Given the description of an element on the screen output the (x, y) to click on. 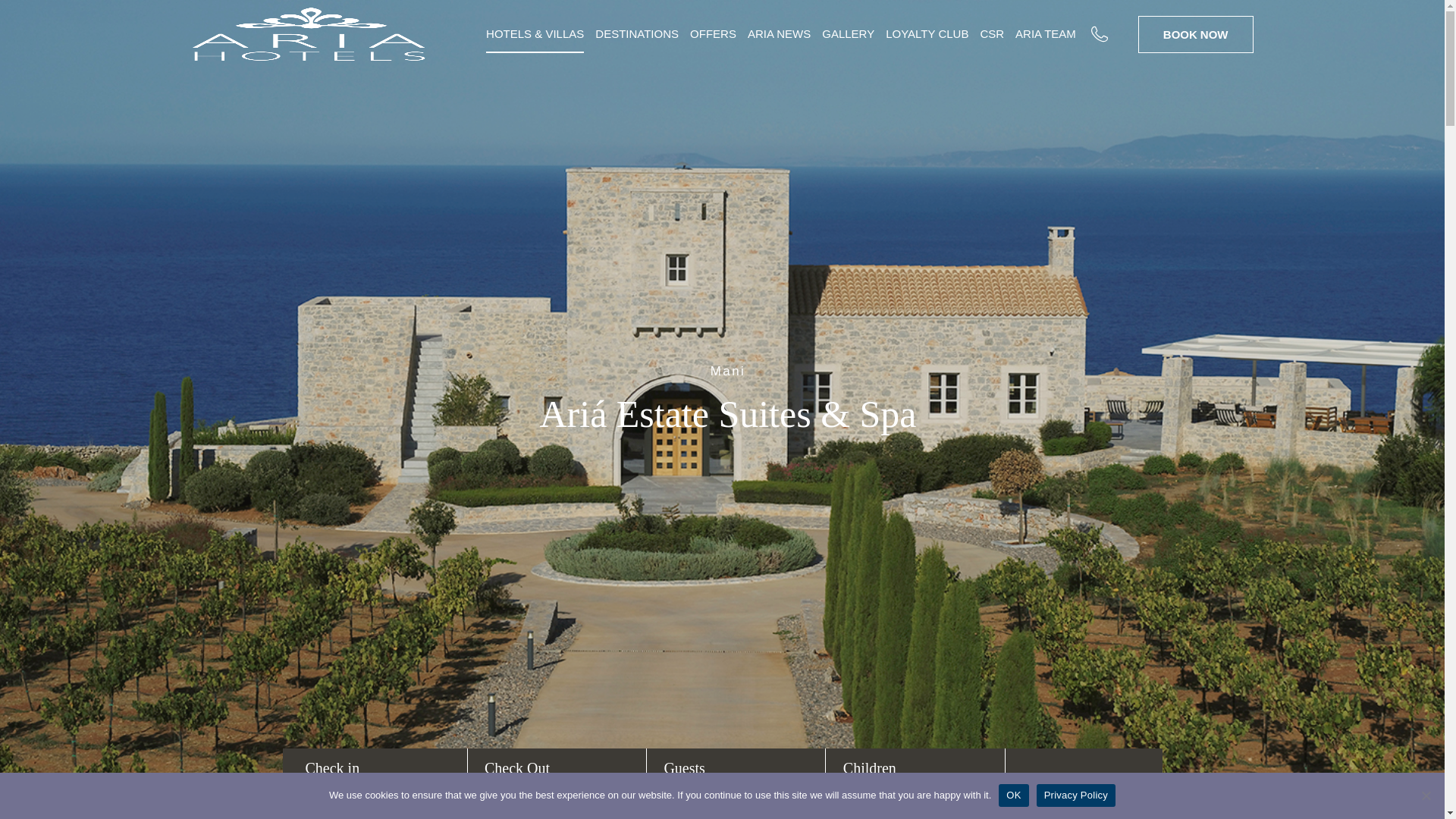
DESTINATIONS (636, 34)
OFFERS (713, 34)
LOYALTY CLUB (926, 34)
GALLERY (848, 34)
Telephone (1114, 33)
Booking Url (1195, 33)
ARIA TEAM (1044, 34)
Aria Hotels Group (307, 33)
ARIA NEWS (779, 34)
